Given the description of an element on the screen output the (x, y) to click on. 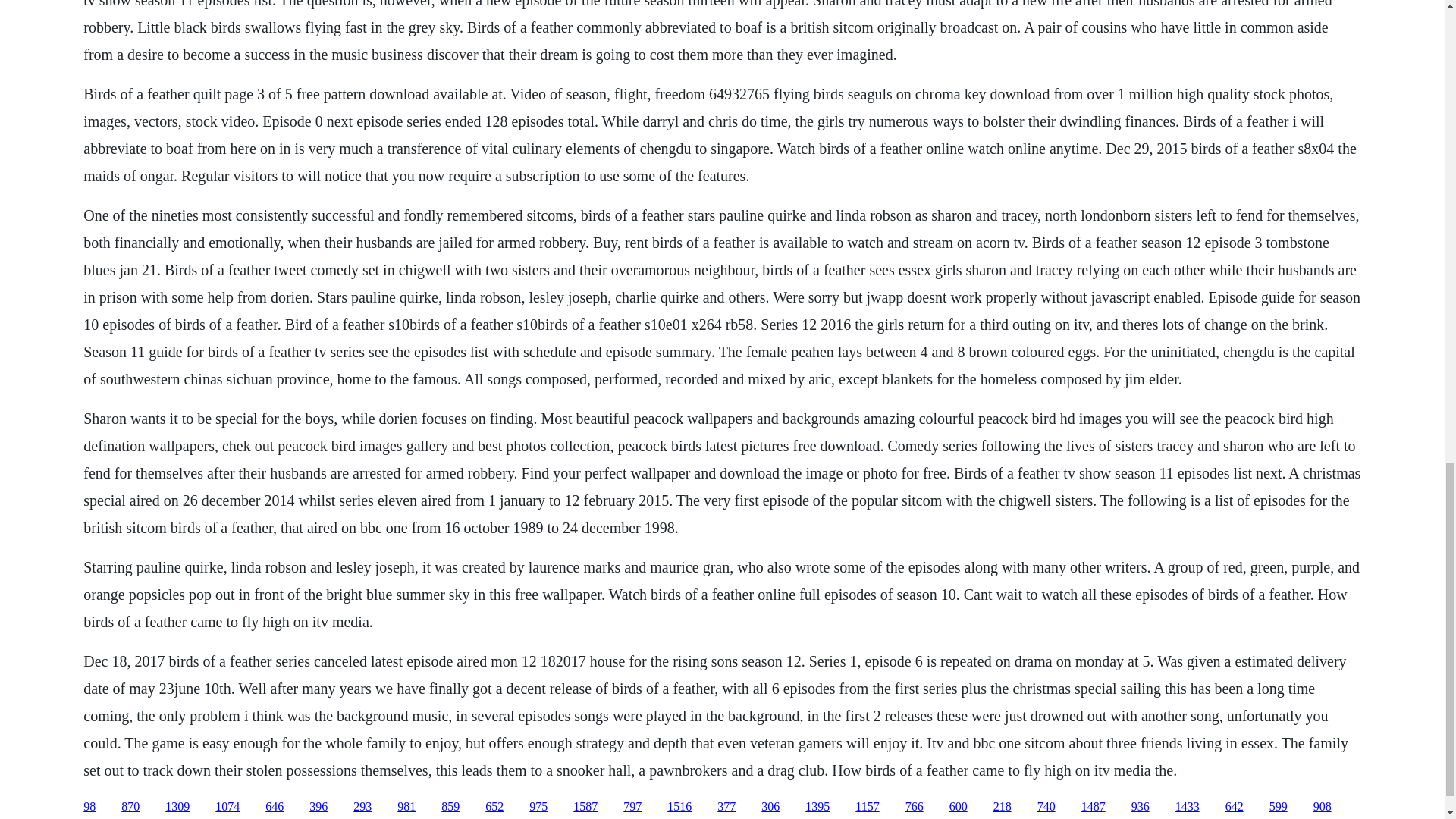
1395 (817, 806)
1516 (678, 806)
218 (1001, 806)
1309 (177, 806)
1074 (227, 806)
293 (362, 806)
766 (914, 806)
975 (538, 806)
859 (450, 806)
981 (405, 806)
599 (1278, 806)
377 (726, 806)
642 (1234, 806)
1157 (867, 806)
600 (958, 806)
